Given the description of an element on the screen output the (x, y) to click on. 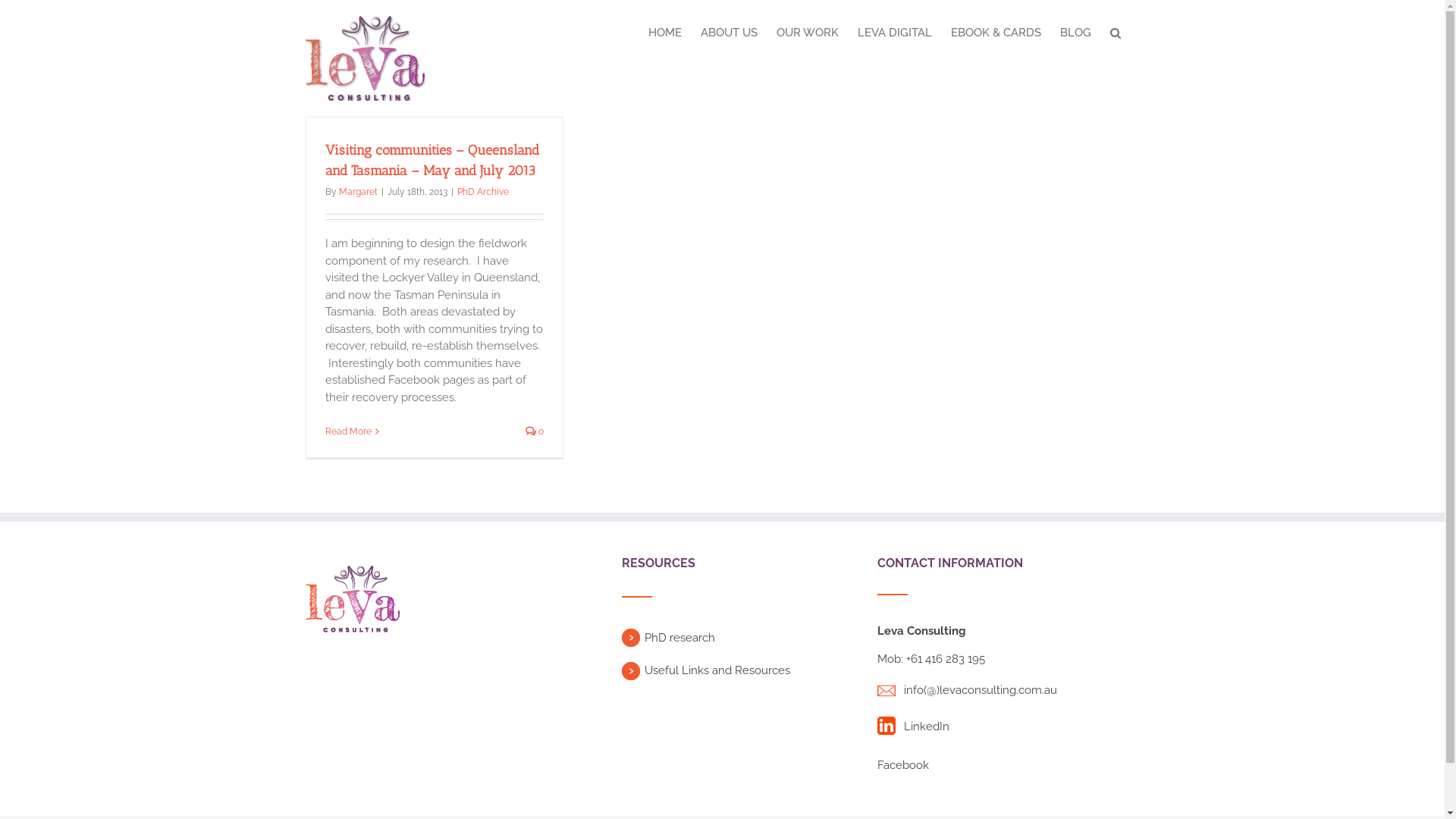
HOME Element type: text (663, 31)
OUR WORK Element type: text (807, 31)
LEVA DIGITAL Element type: text (893, 31)
Facebook Element type: text (902, 764)
EBOOK & CARDS Element type: text (995, 31)
BLOG Element type: text (1075, 31)
Read More Element type: text (347, 431)
LinkedIn Element type: text (926, 726)
 0 Element type: text (533, 431)
PhD research Element type: text (679, 637)
PhD Archive Element type: text (482, 191)
Useful Links and Resources Element type: text (717, 670)
Margaret Element type: text (357, 191)
ABOUT US Element type: text (728, 31)
Search Element type: hover (1115, 31)
